Given the description of an element on the screen output the (x, y) to click on. 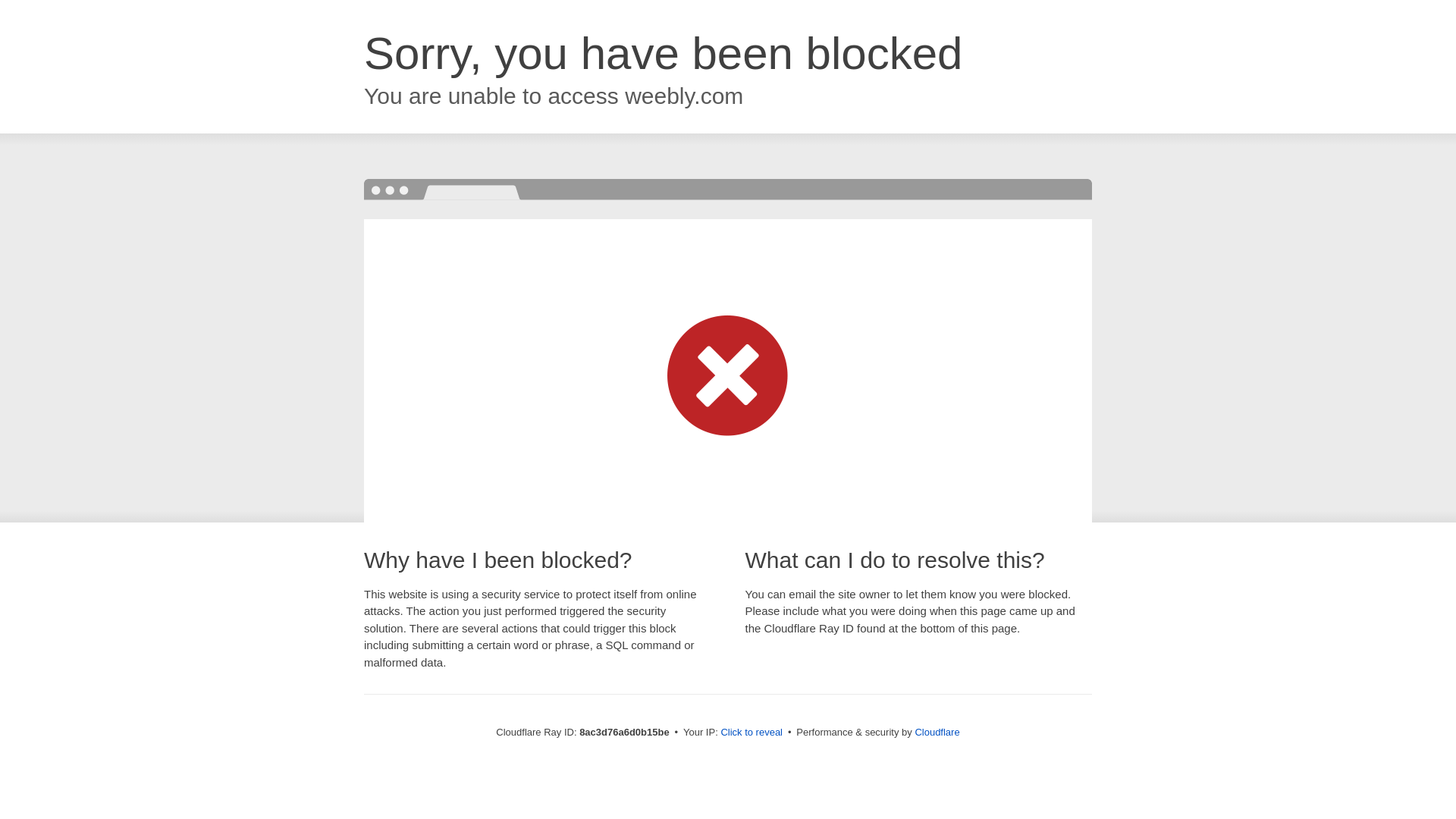
Cloudflare (936, 731)
Click to reveal (751, 732)
